Given the description of an element on the screen output the (x, y) to click on. 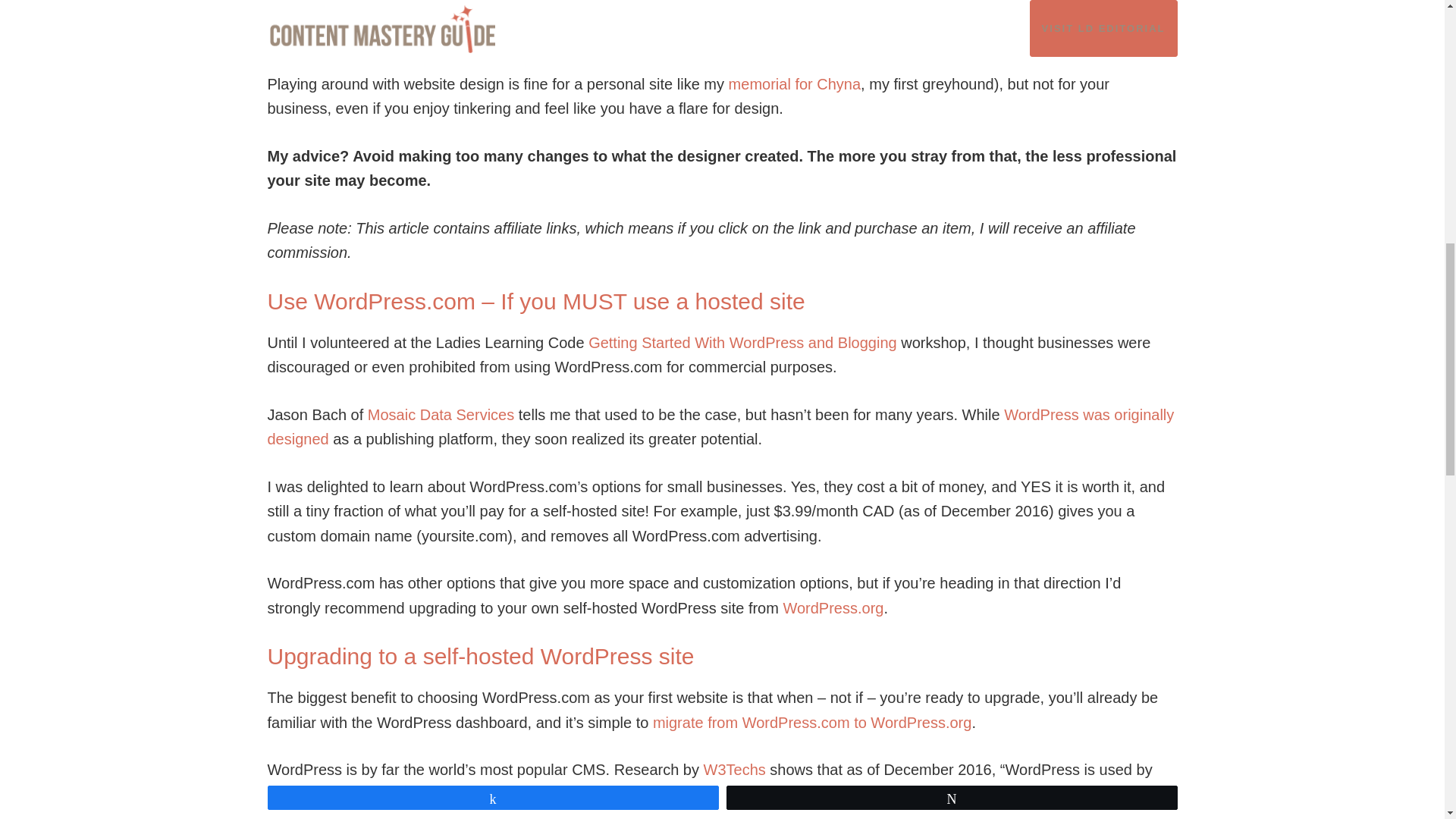
W3Techs (734, 769)
migrate from WordPress.com to WordPress.org (812, 722)
memorial for Chyna (795, 84)
WordPress.org (833, 607)
Getting Started With WordPress and Blogging (742, 342)
WordPress was originally designed (719, 426)
Link opens in new window (812, 722)
Link opens in new window (373, 36)
Mosaic Data Services (440, 414)
Link opens in new window (734, 769)
Link opens in new window (833, 607)
rememberingchyna.weebly.com (373, 36)
